Given the description of an element on the screen output the (x, y) to click on. 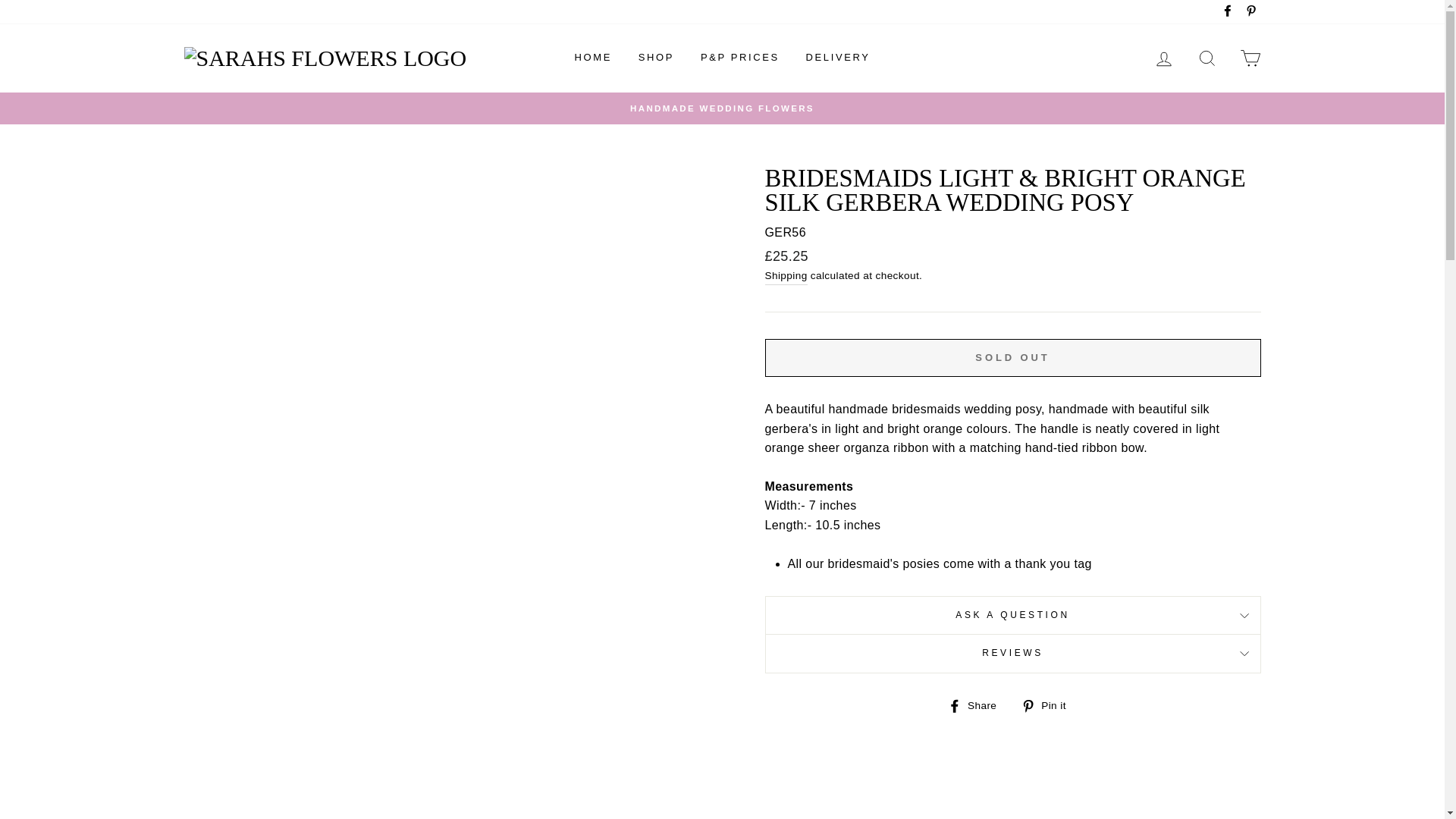
HOME (593, 58)
Pin on Pinterest (1049, 705)
SHOP (656, 58)
Share on Facebook (977, 705)
